Given the description of an element on the screen output the (x, y) to click on. 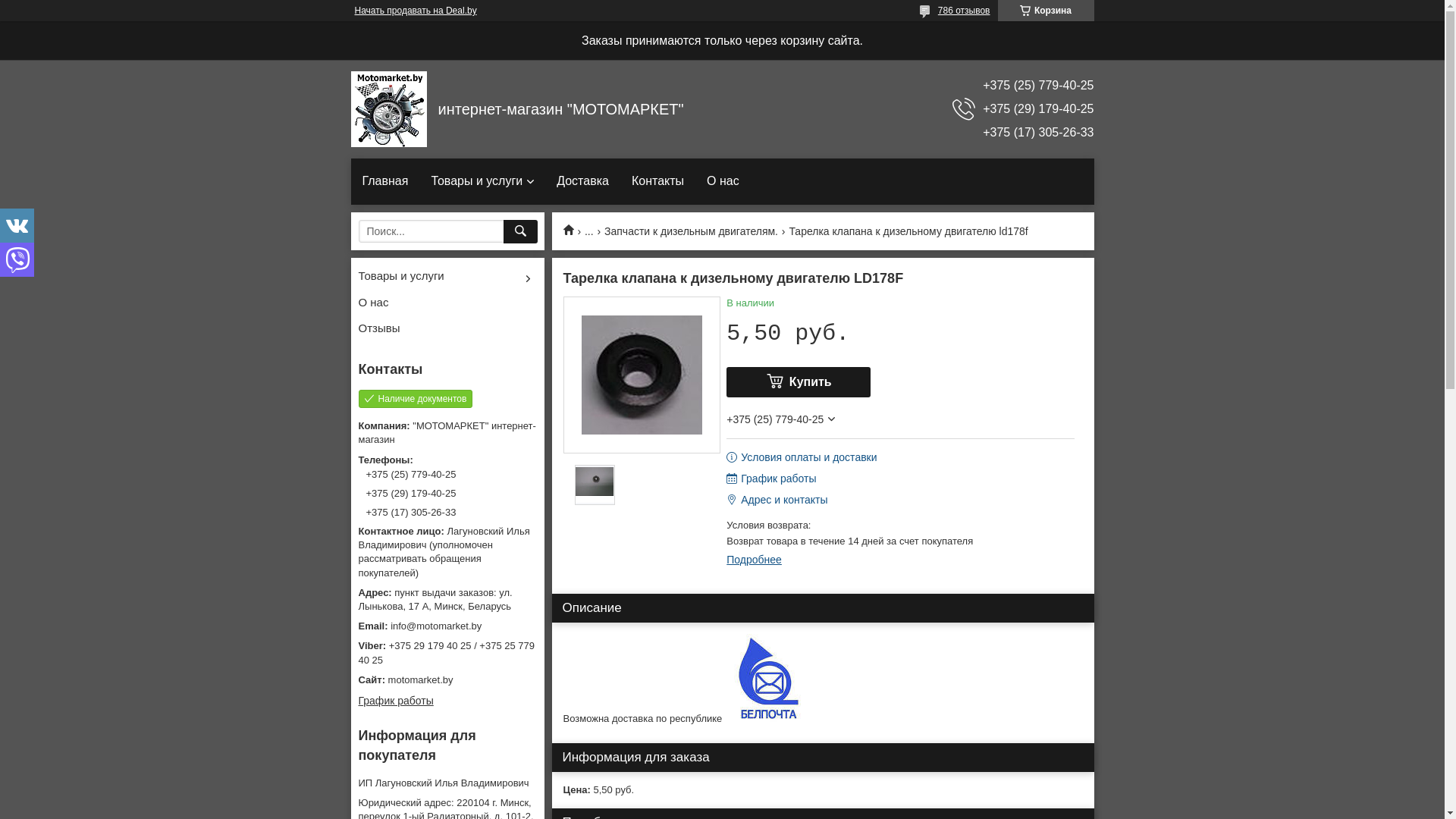
motomarket.by Element type: text (446, 680)
info@motomarket.by Element type: text (446, 626)
